Given the description of an element on the screen output the (x, y) to click on. 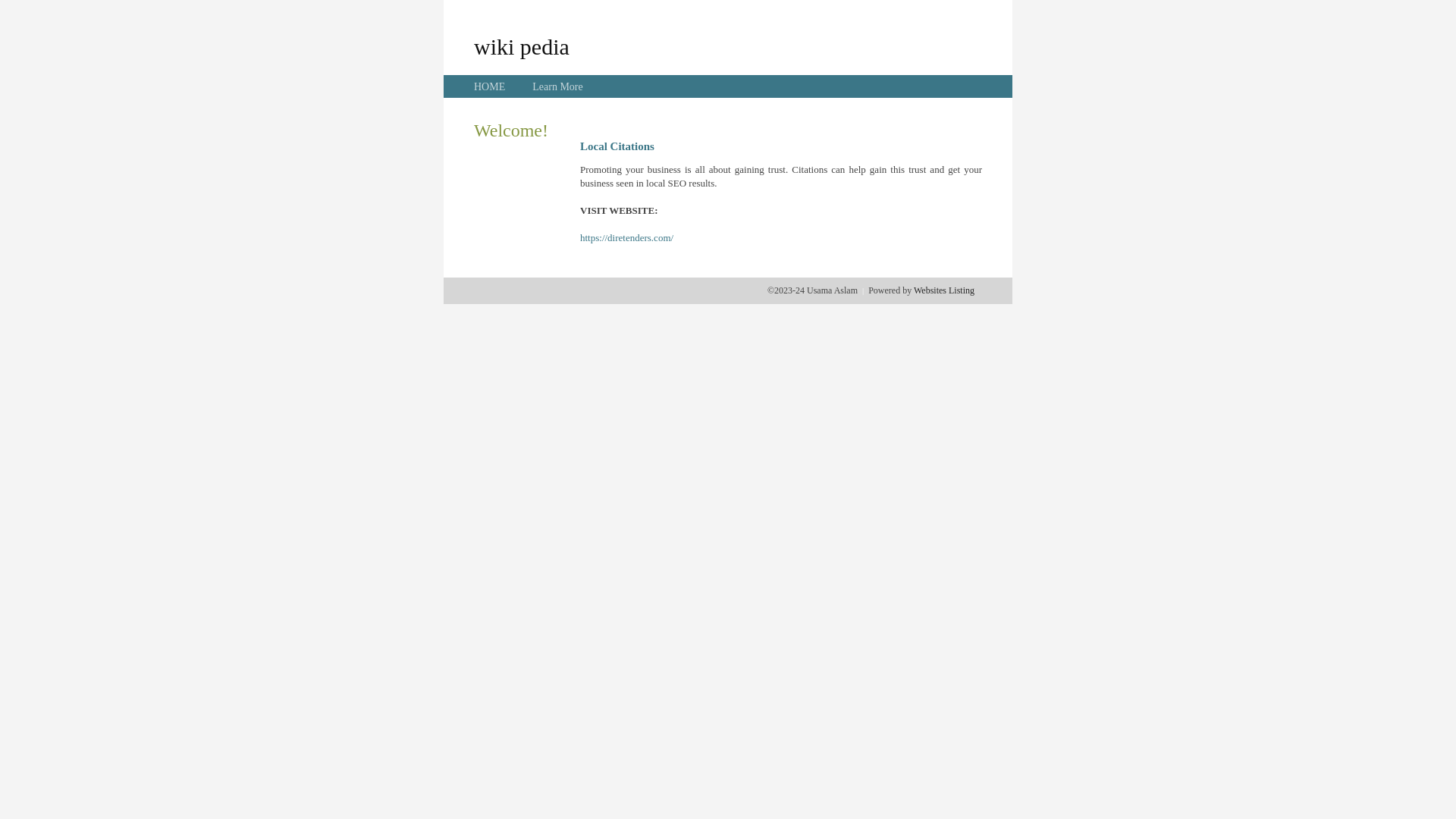
HOME Element type: text (489, 86)
https://diretenders.com/ Element type: text (626, 237)
Websites Listing Element type: text (943, 290)
wiki pedia Element type: text (521, 46)
Learn More Element type: text (557, 86)
